Given the description of an element on the screen output the (x, y) to click on. 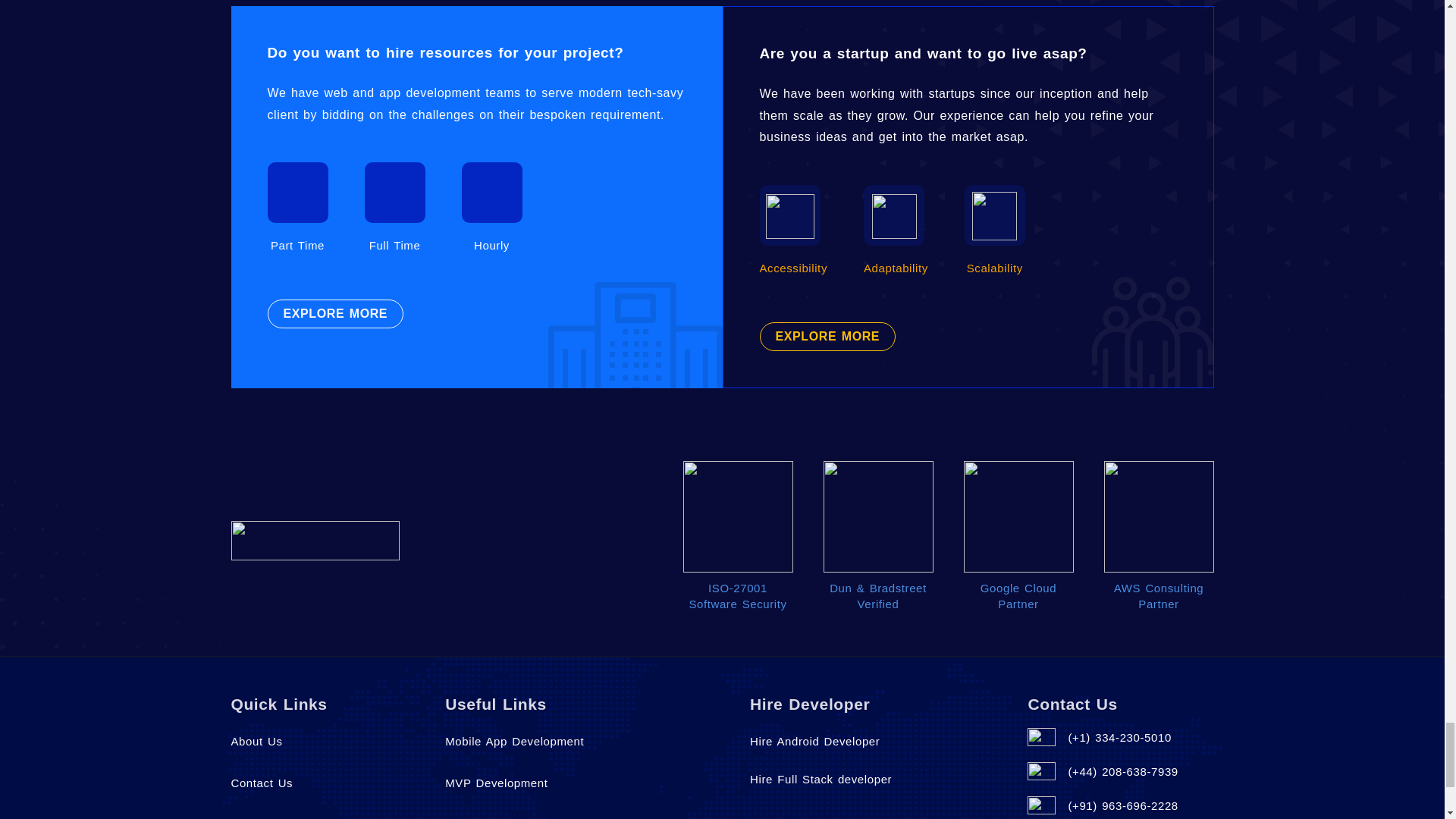
Accessibility (789, 216)
Adaptability (894, 216)
Scalability (994, 215)
